Given the description of an element on the screen output the (x, y) to click on. 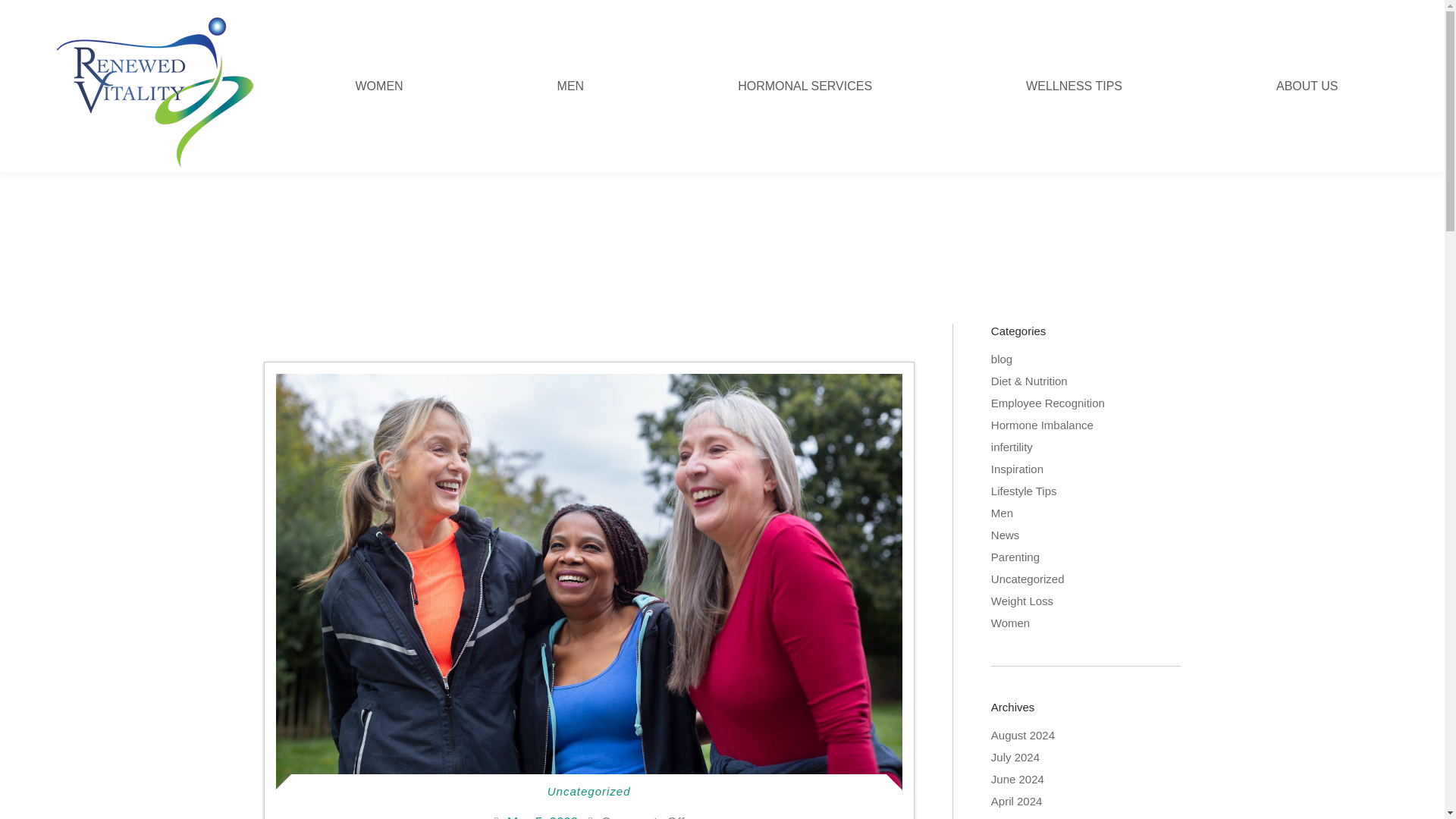
ABOUT US (1306, 85)
HORMONAL SERVICES (805, 85)
WELLNESS TIPS (1074, 85)
MEN (570, 85)
WOMEN (378, 85)
